Given the description of an element on the screen output the (x, y) to click on. 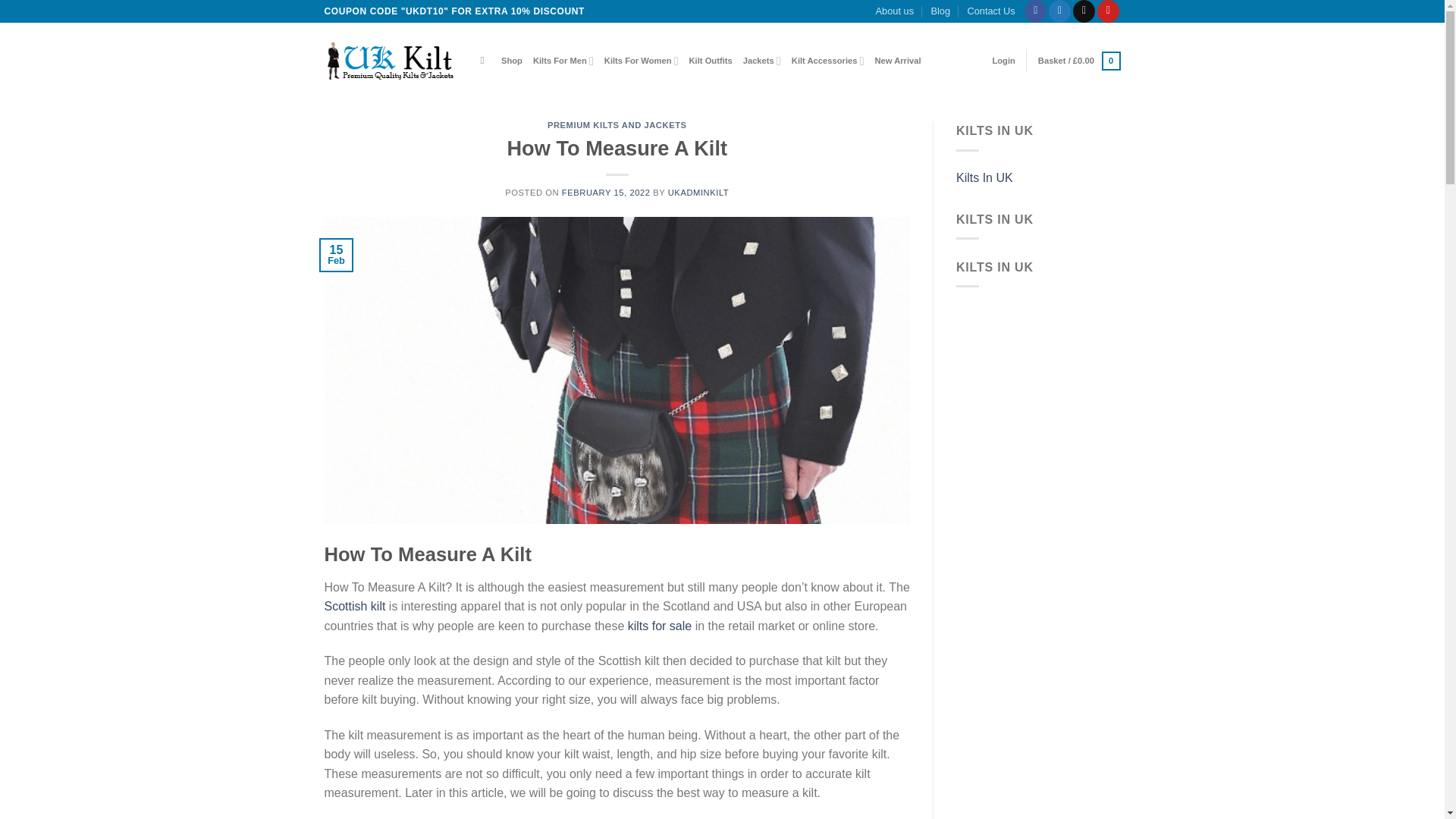
Kilt Outfits (710, 60)
Basket (1079, 60)
Follow on Facebook (1035, 11)
Kilts For Women (641, 60)
Jackets (761, 60)
Follow on Twitter (1059, 11)
Send us an email (1083, 11)
Contact Us (990, 11)
Kilts For Men (563, 60)
Follow on Pinterest (1108, 11)
About us (895, 11)
